Given the description of an element on the screen output the (x, y) to click on. 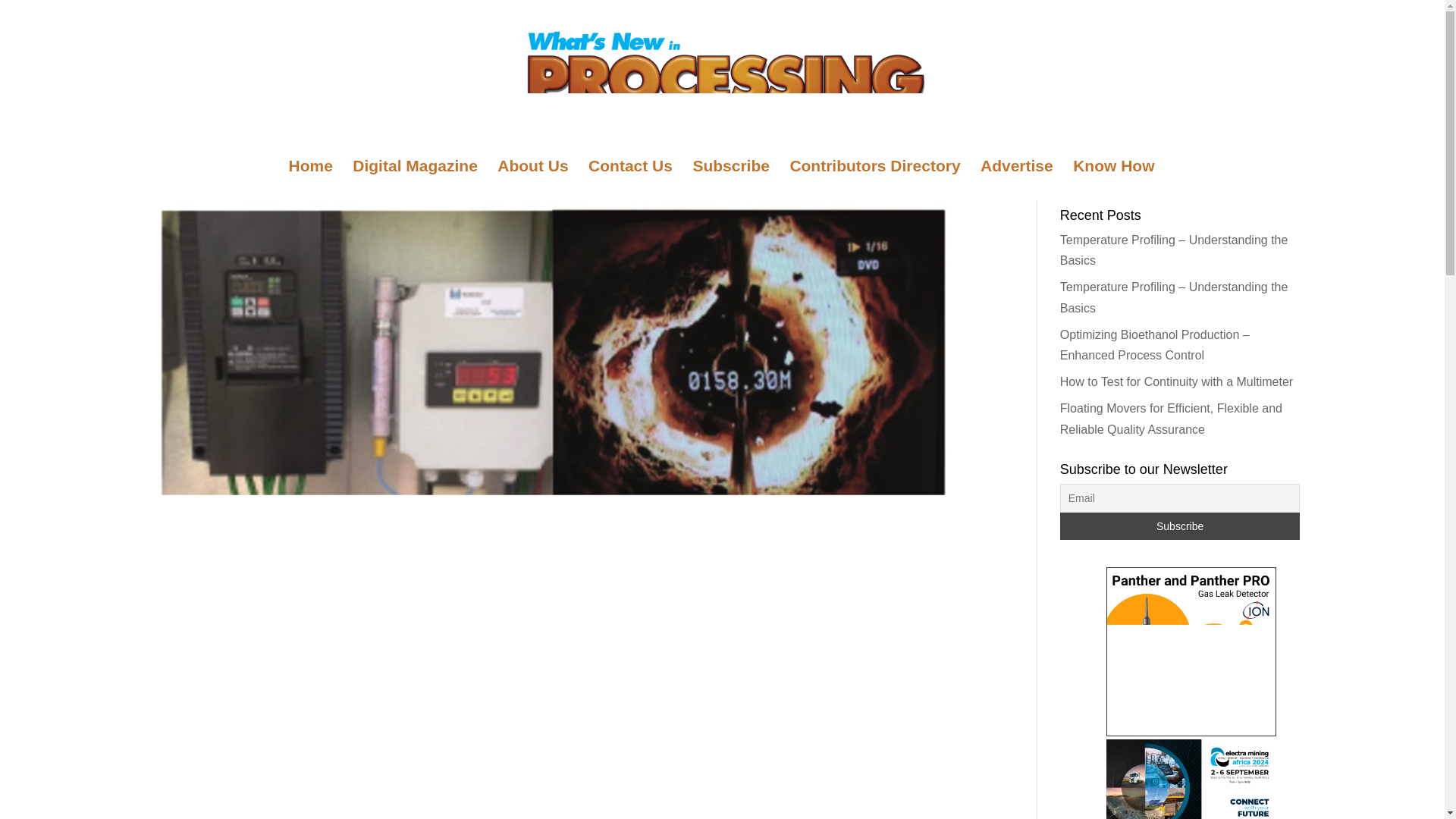
Contributors Directory (874, 179)
Subscribe (731, 179)
Search (1275, 170)
Subscribe (1179, 525)
Home (309, 179)
Impact Instruments Banner (1190, 651)
Subscribe (1179, 525)
About Us (532, 179)
How to Test for Continuity with a Multimeter (1175, 381)
